Given the description of an element on the screen output the (x, y) to click on. 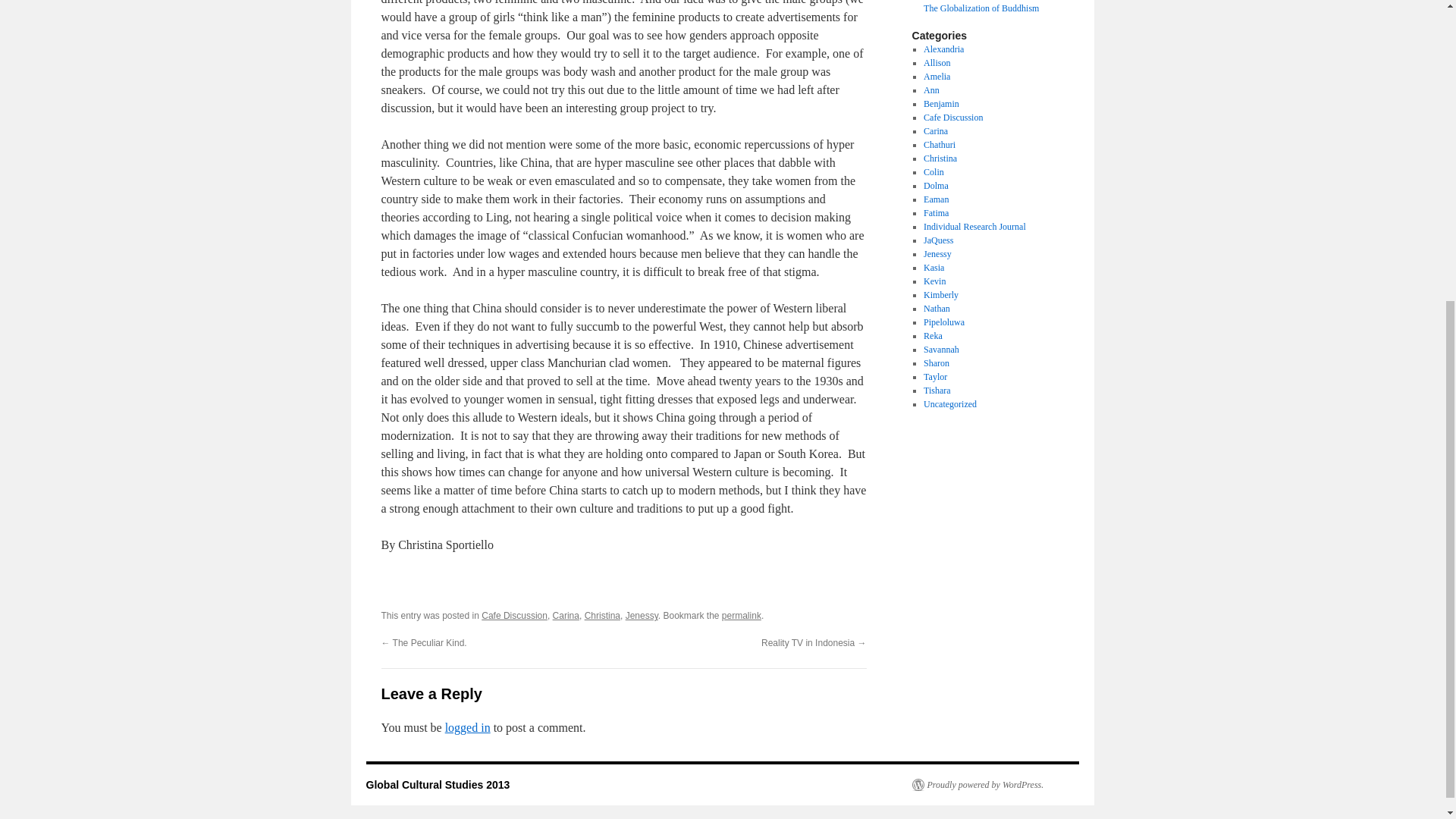
Cafe Discussion (952, 117)
Fatima (936, 213)
Christina (939, 158)
permalink (741, 615)
Cafe Discussion (514, 615)
Carina (566, 615)
Alexandria (943, 49)
Ann (931, 90)
Semantic Personal Publishing Platform (977, 784)
Allison (936, 62)
Christina (602, 615)
Chathuri (939, 144)
Colin (933, 172)
Eaman (936, 199)
Carina (935, 131)
